Given the description of an element on the screen output the (x, y) to click on. 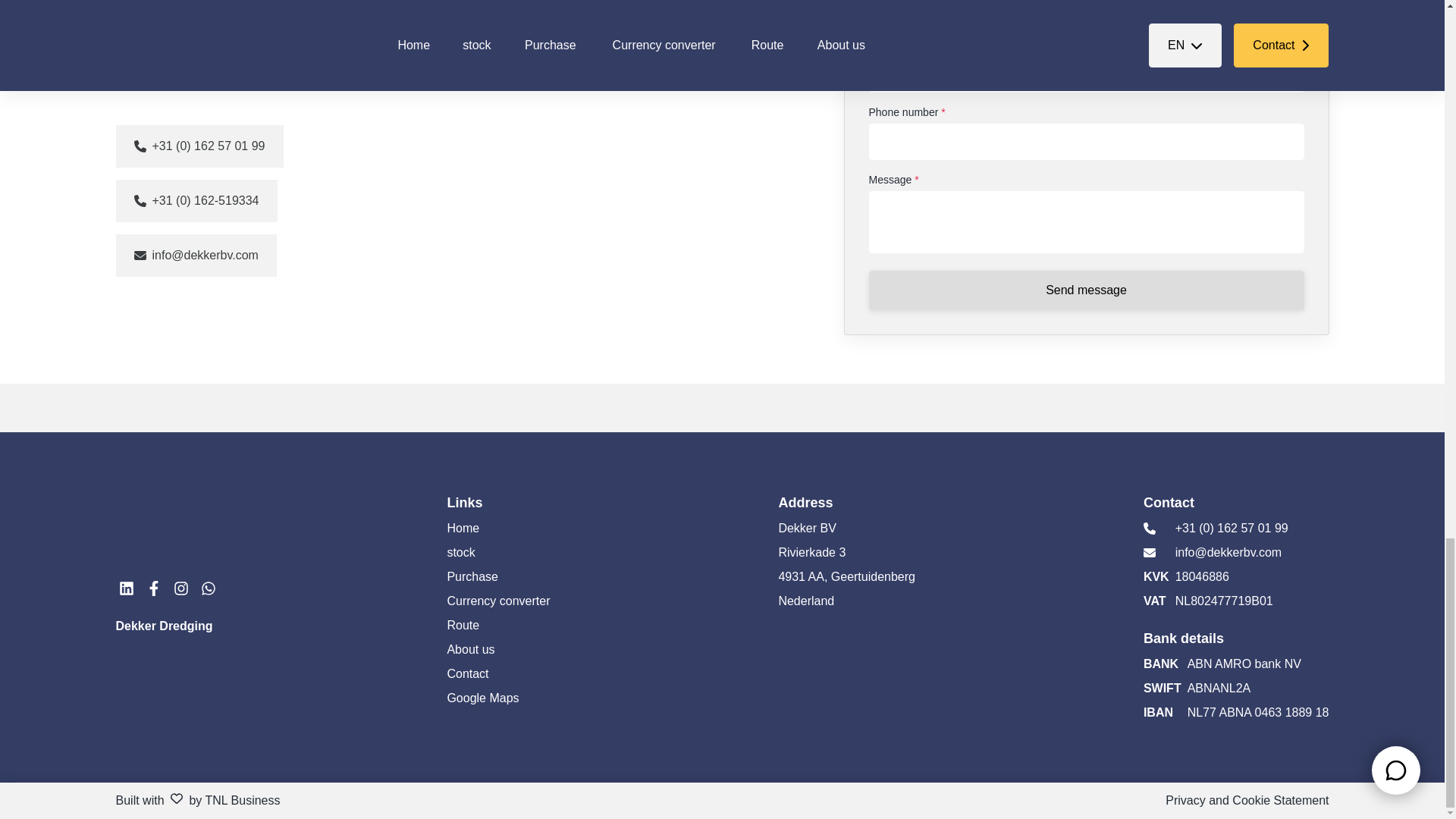
Instagram (180, 588)
Facebook (152, 588)
LinkedIn (125, 588)
Send message (1086, 290)
WhatsApp (207, 588)
